Given the description of an element on the screen output the (x, y) to click on. 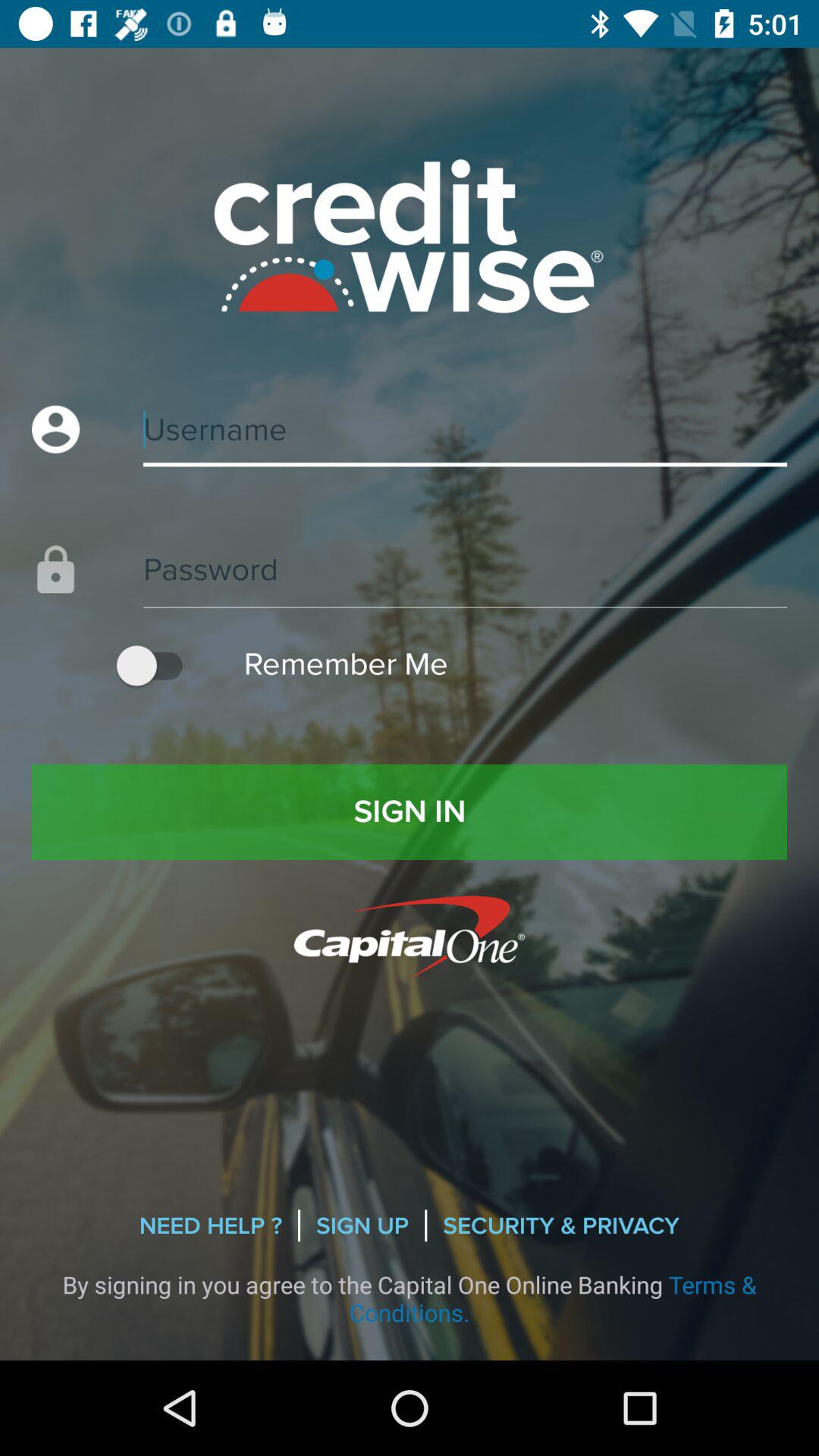
open icon above the by signing in item (210, 1225)
